Given the description of an element on the screen output the (x, y) to click on. 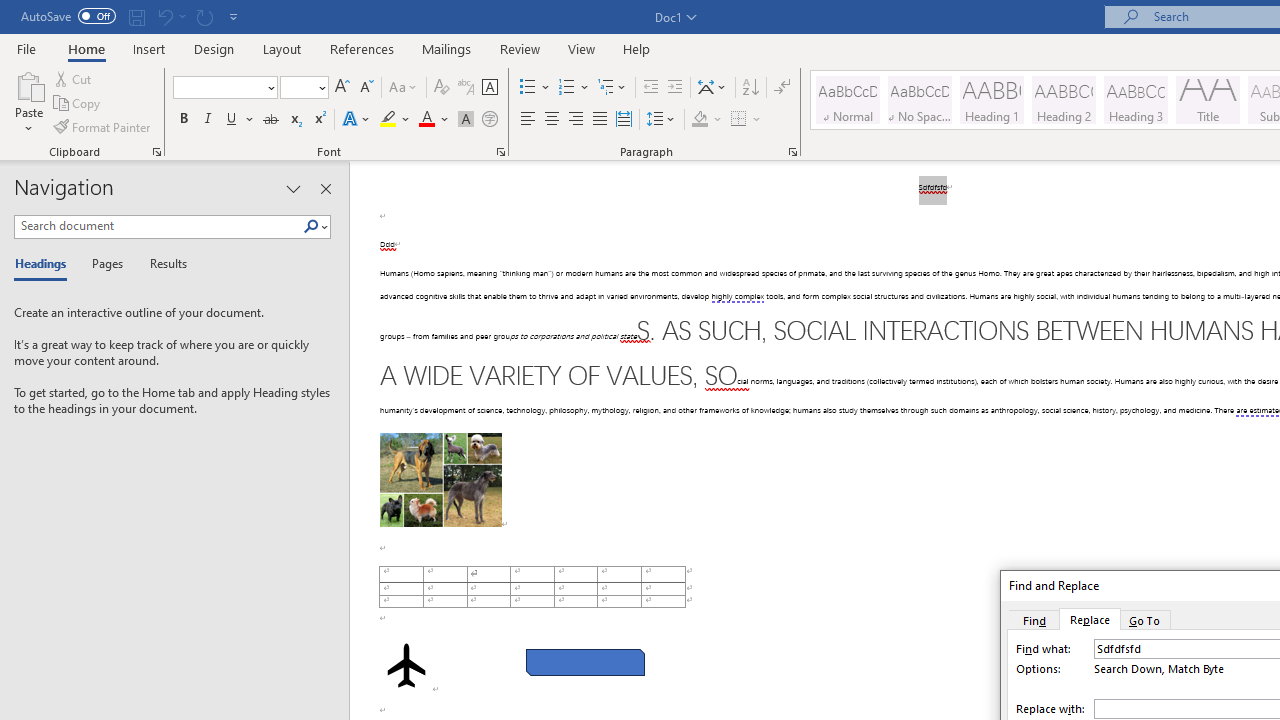
Shading RGB(0, 0, 0) (699, 119)
Clear Formatting (442, 87)
Asian Layout (712, 87)
Pages (105, 264)
Copy (78, 103)
Superscript (319, 119)
Title (1208, 100)
Align Left (527, 119)
Center (552, 119)
